Given the description of an element on the screen output the (x, y) to click on. 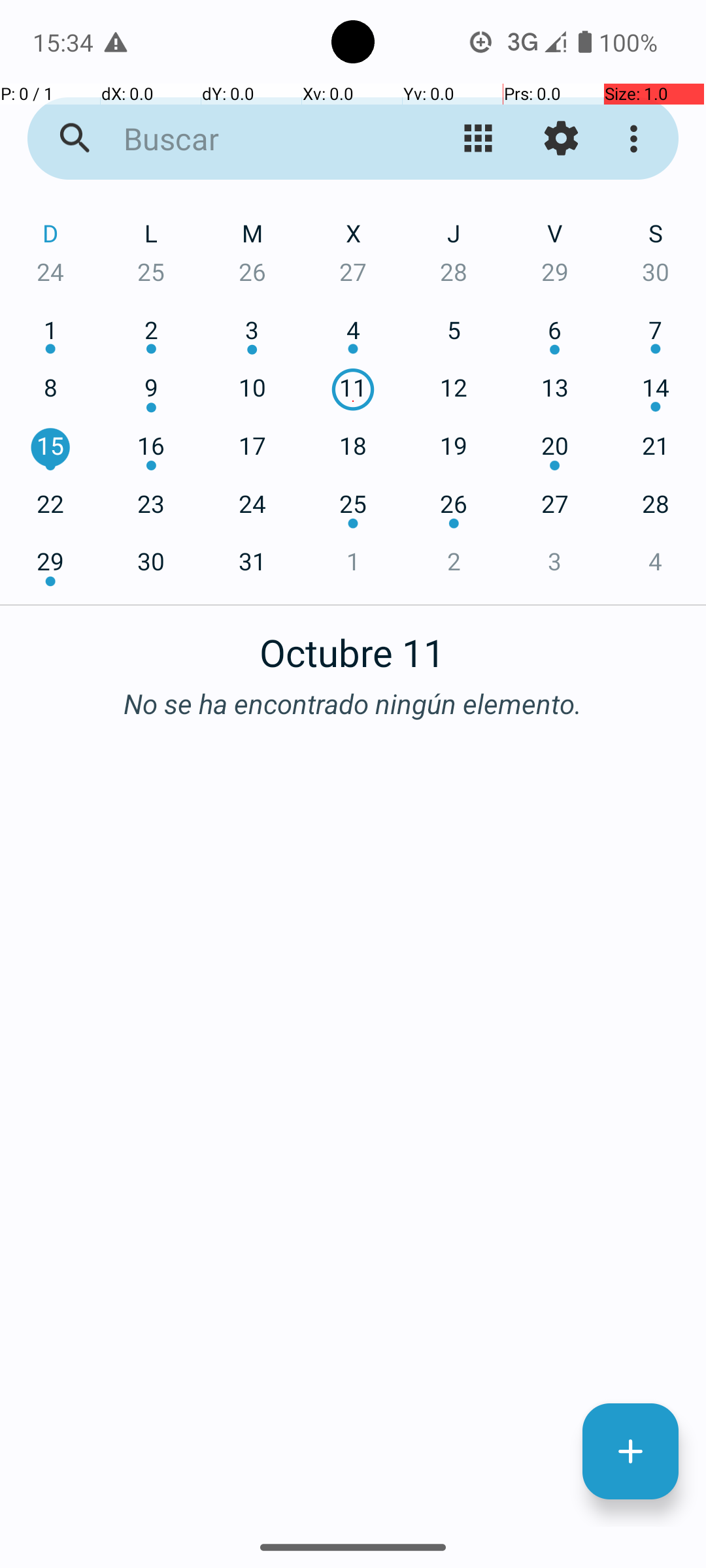
Octubre 11 Element type: android.widget.TextView (352, 644)
No se ha encontrado ningún elemento. Element type: android.widget.TextView (352, 702)
